Given the description of an element on the screen output the (x, y) to click on. 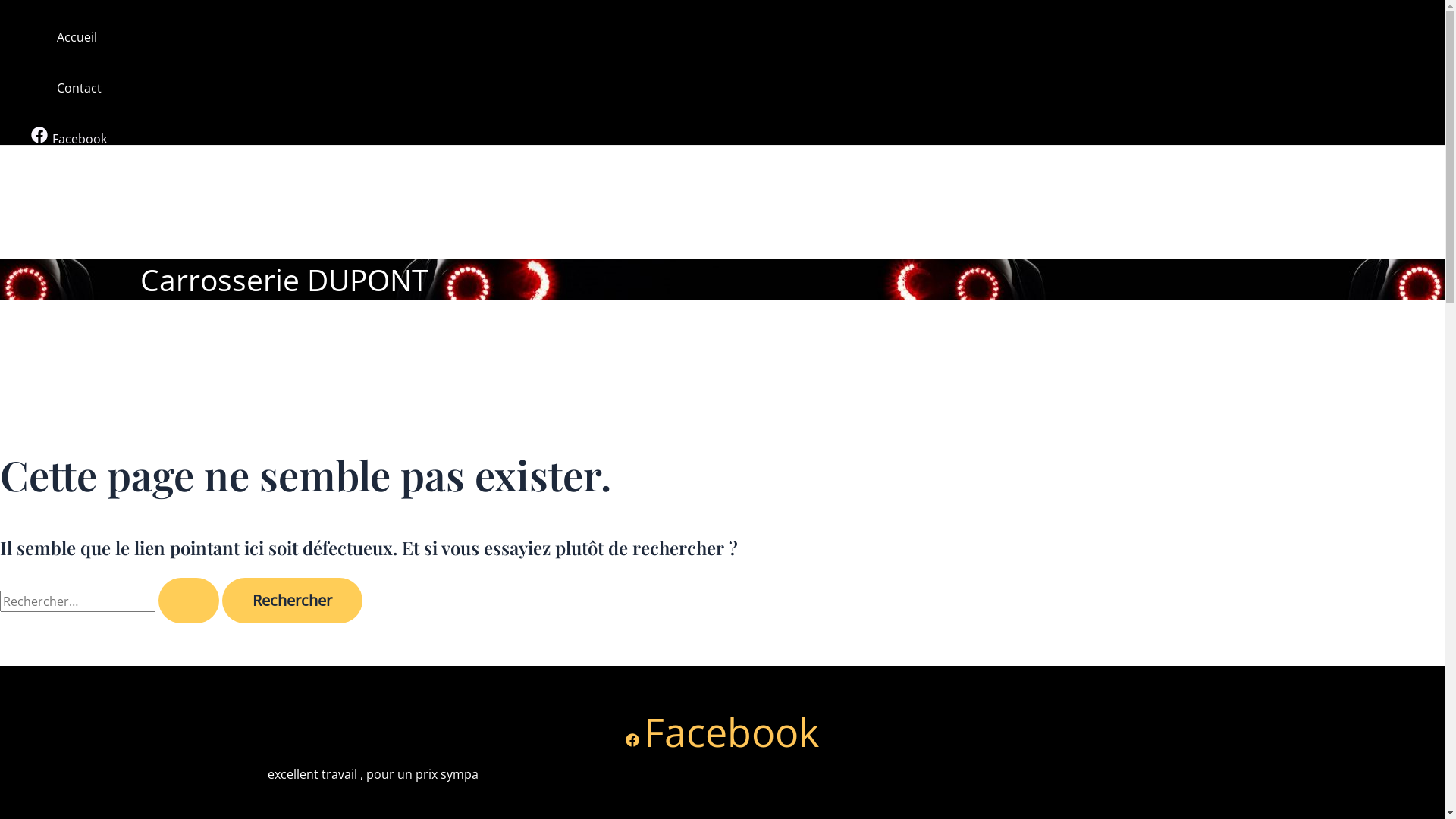
Facebook Element type: text (69, 138)
Contact Element type: text (78, 87)
Rechercher Element type: text (292, 600)
Accueil Element type: text (78, 37)
Facebook Element type: text (721, 731)
